Given the description of an element on the screen output the (x, y) to click on. 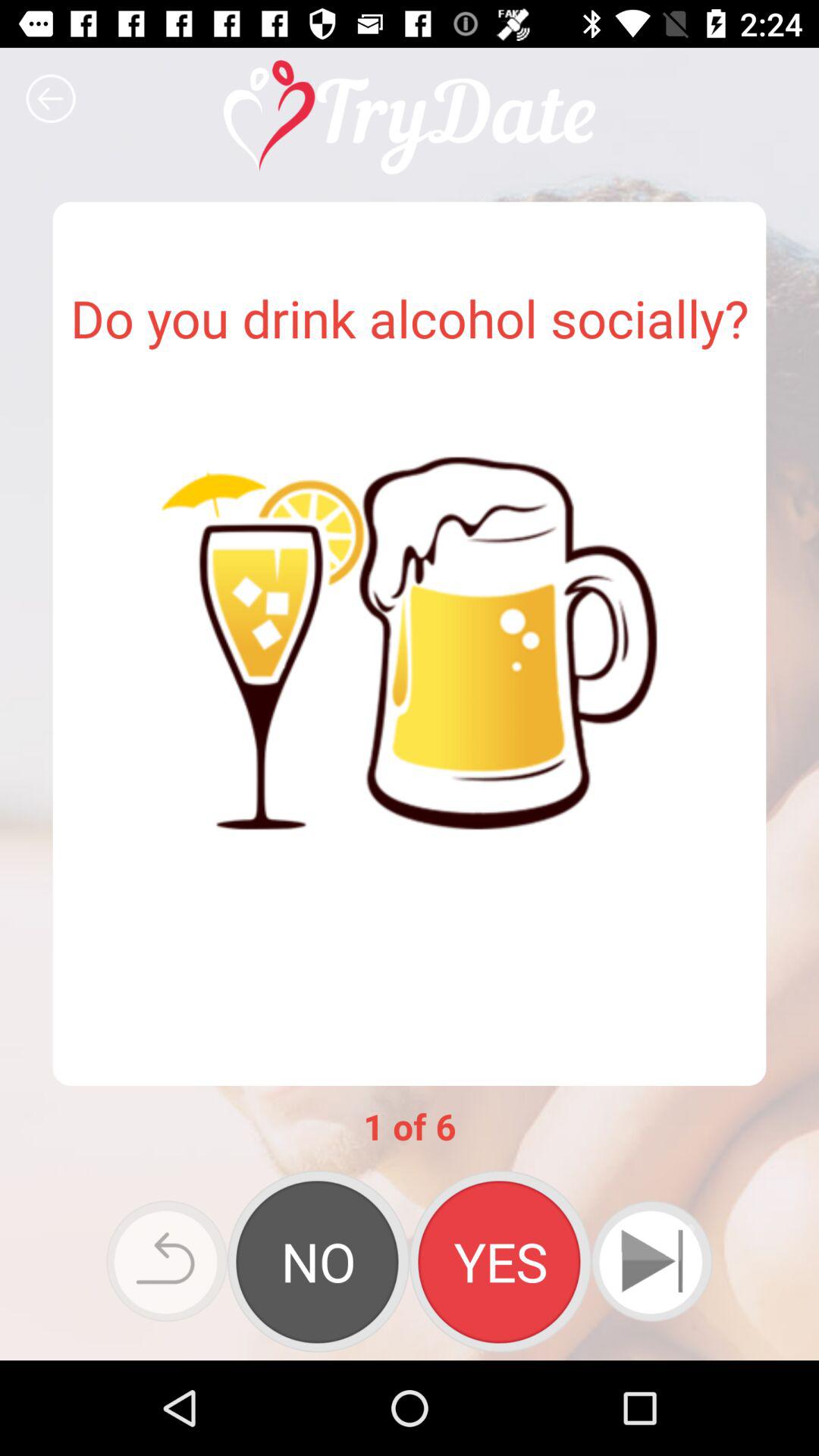
choose icon below the 1 of 6 app (500, 1261)
